Given the description of an element on the screen output the (x, y) to click on. 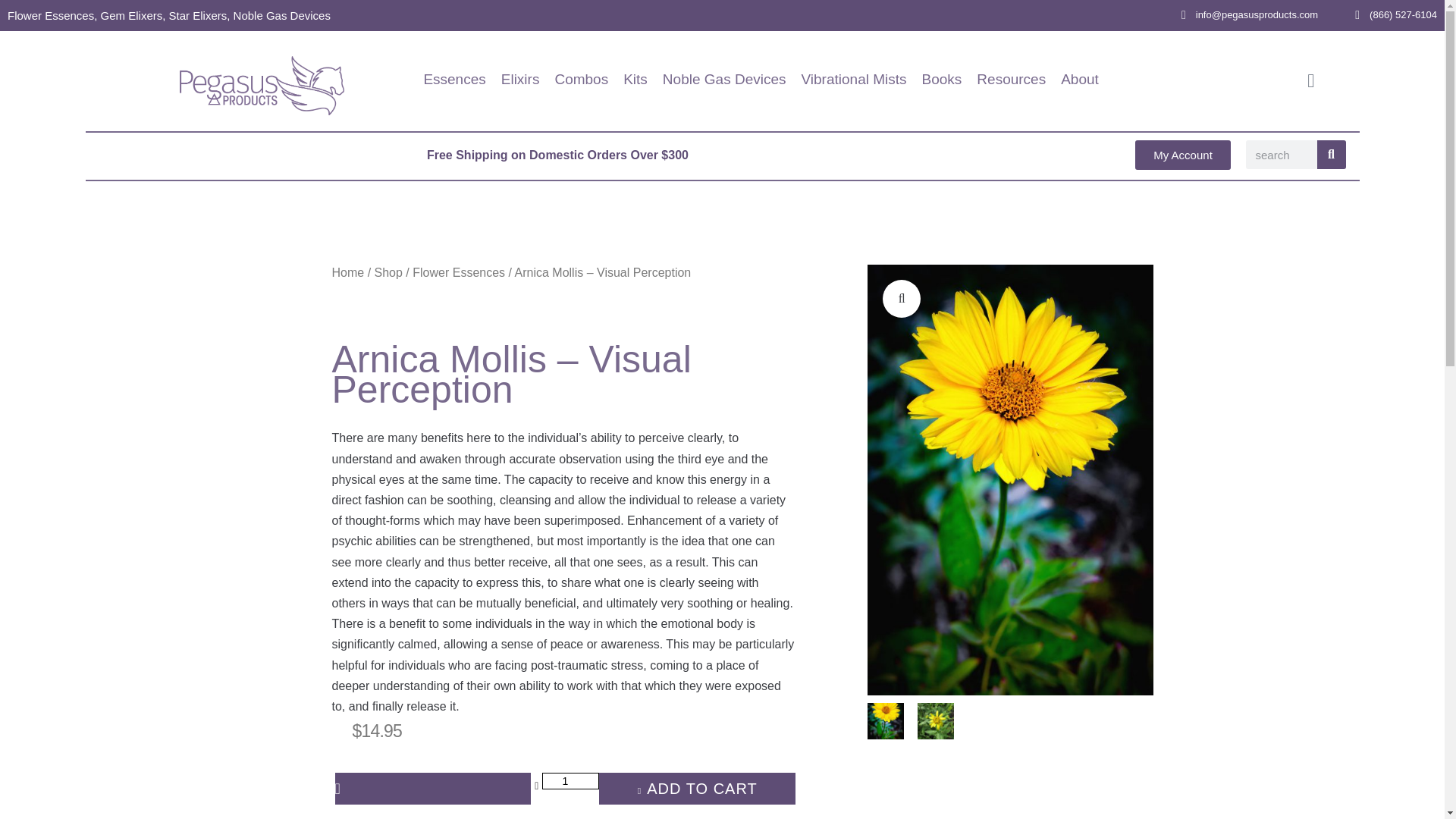
My Account (1182, 154)
Shop (388, 272)
Noble Gas Devices (724, 65)
Resources (1010, 65)
Combos (581, 65)
Flower Essences (458, 272)
1 (569, 781)
Home (348, 272)
Add to Wishlist (432, 788)
Vibrational Mists (852, 65)
Essences (453, 65)
